Given the description of an element on the screen output the (x, y) to click on. 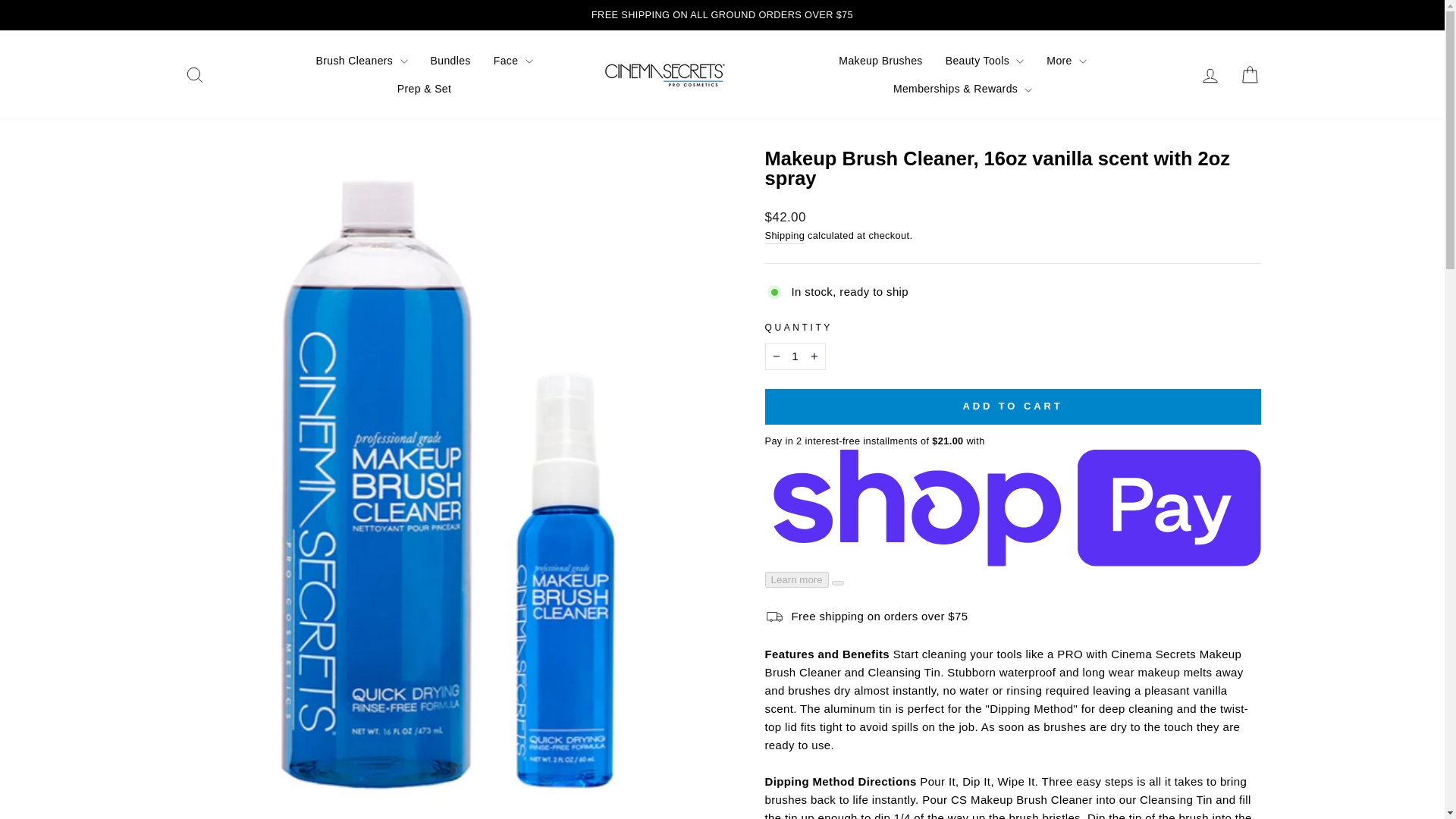
icon-search (194, 74)
1 (794, 356)
account (1210, 75)
